Given the description of an element on the screen output the (x, y) to click on. 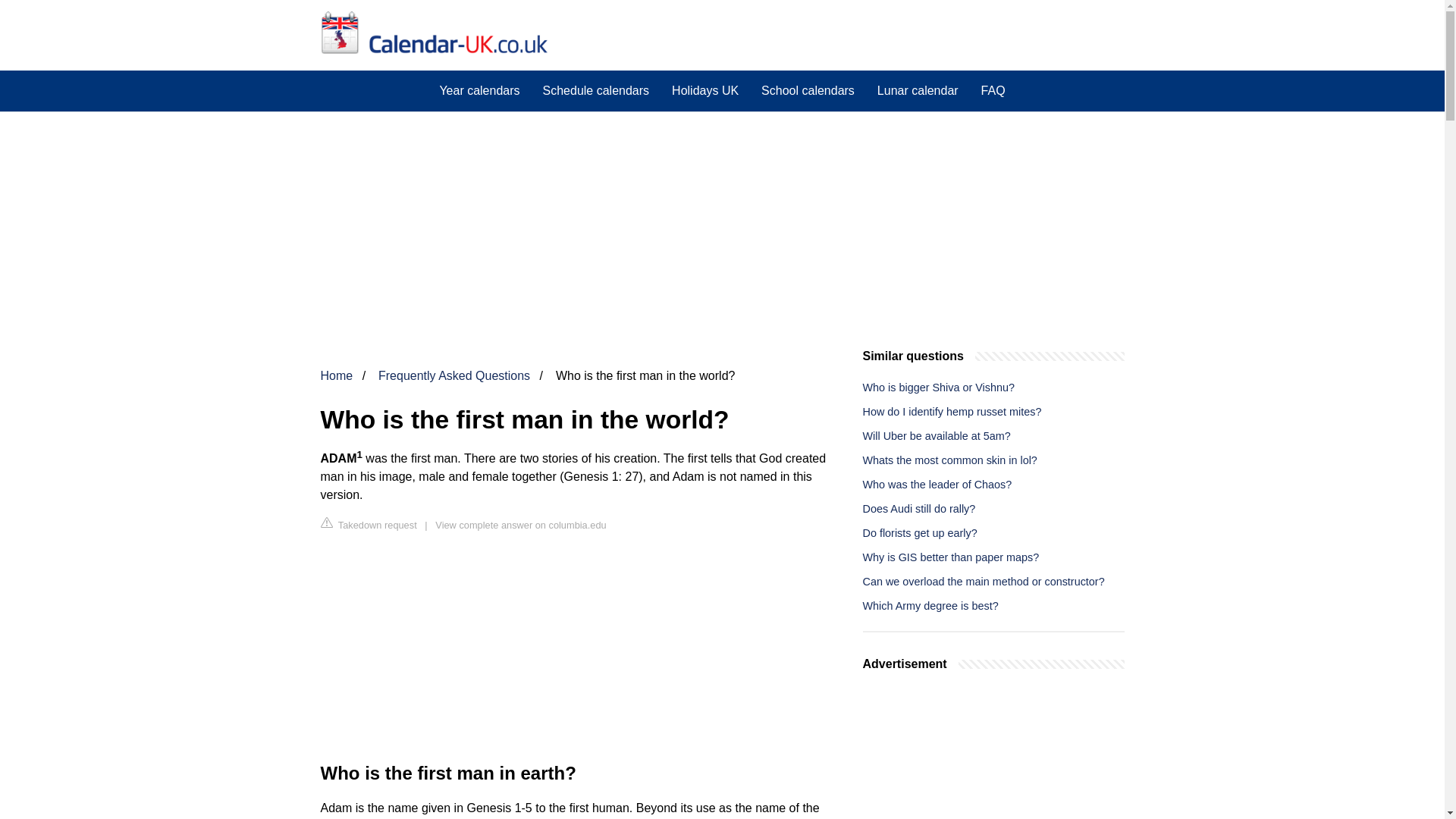
School calendars (807, 90)
Lunar calendar (917, 90)
Takedown request (368, 524)
Frequently Asked Questions (453, 375)
Schedule calendars (596, 90)
Holidays UK (705, 90)
FAQ (992, 90)
View complete answer on columbia.edu (520, 524)
Home (336, 375)
Year calendars (479, 90)
